Given the description of an element on the screen output the (x, y) to click on. 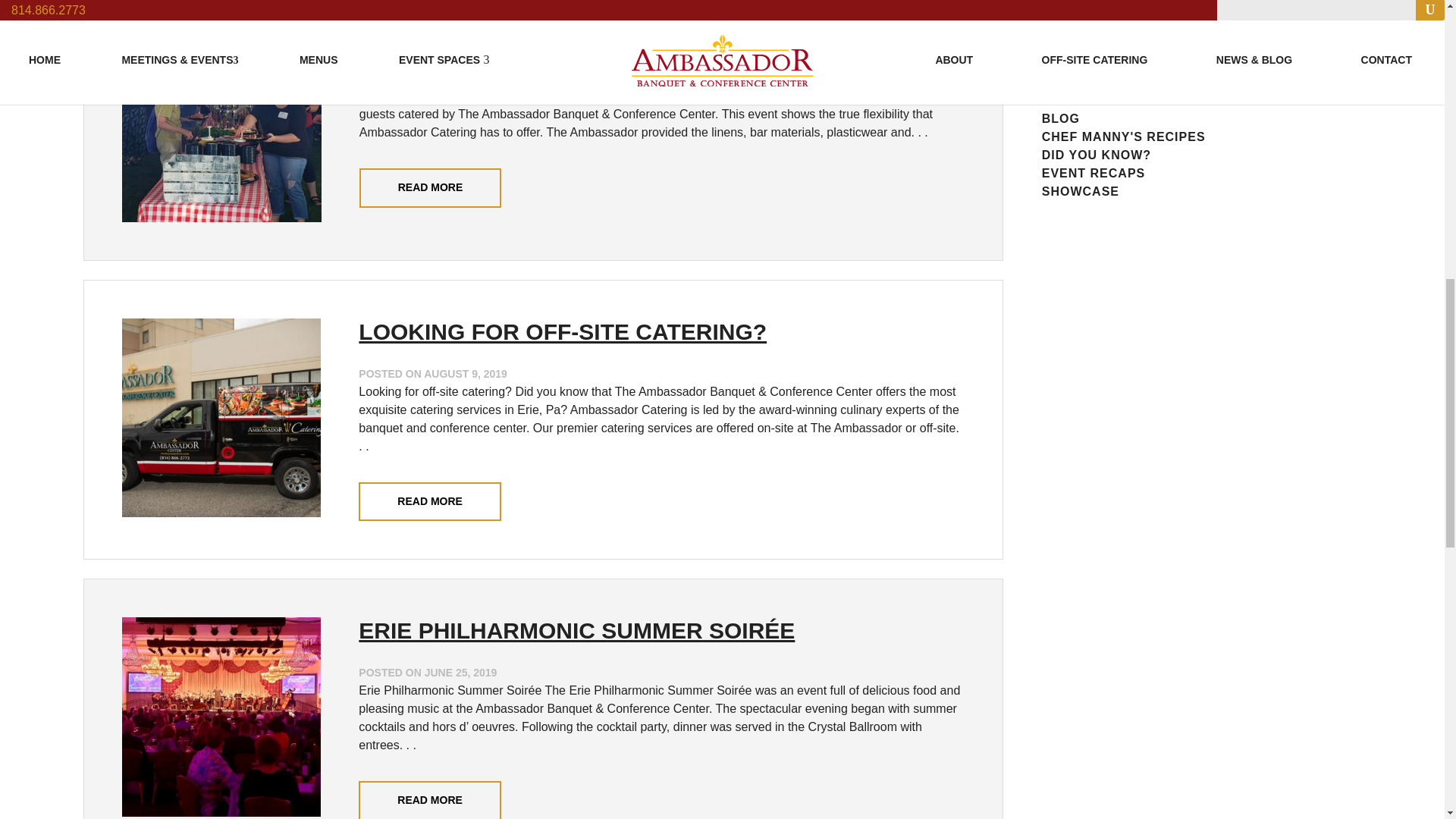
READ MORE (430, 188)
UPMC HAMOT ZOO EVENT (506, 35)
